Given the description of an element on the screen output the (x, y) to click on. 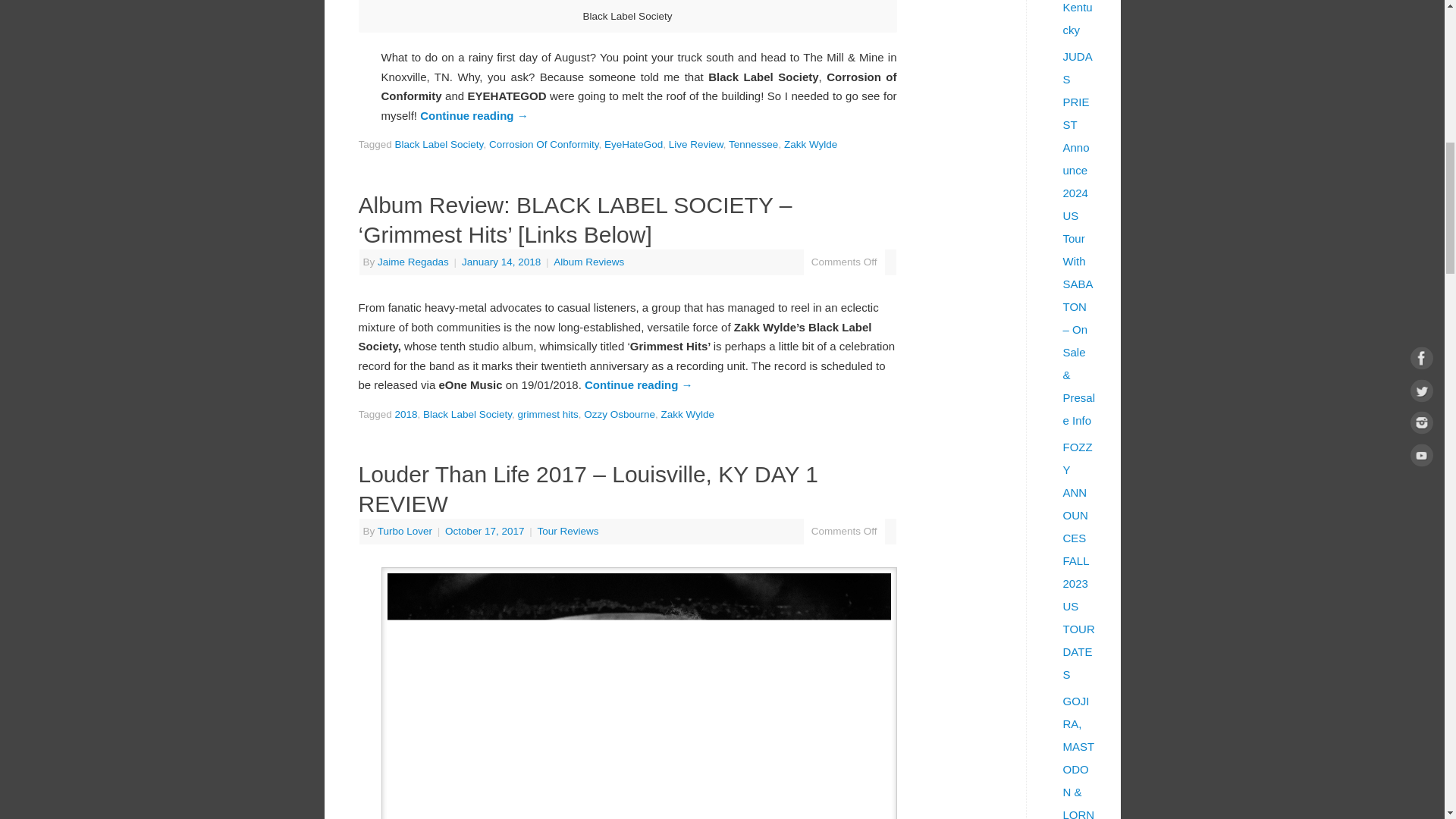
Black Label Society (438, 143)
grimmest hits (547, 414)
2018 (405, 414)
Corrosion Of Conformity (543, 143)
3:11 pm (502, 261)
Ozzy Osbourne (619, 414)
Tennessee (753, 143)
5:33 pm (486, 531)
View all posts by Jaime Regadas (412, 261)
Zakk Wylde (687, 414)
